Given the description of an element on the screen output the (x, y) to click on. 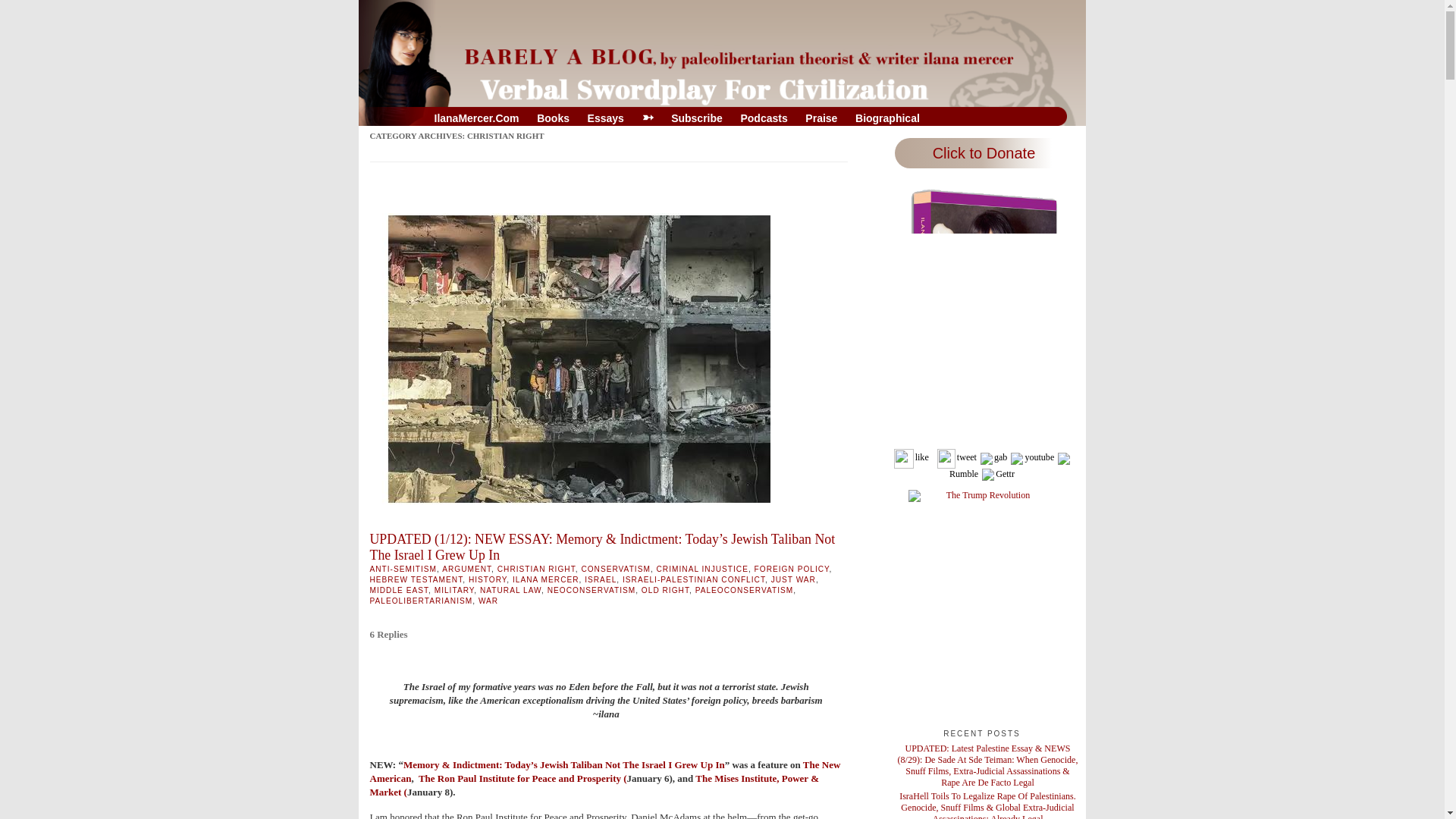
Books (553, 118)
CONSERVATISM (615, 569)
NEOCONSERVATISM (590, 590)
IlanaMercer.Com (475, 118)
Click to Donate (981, 153)
ILANA MERCER (545, 579)
NATURAL LAW (510, 590)
FOREIGN POLICY (791, 569)
MILITARY (453, 590)
